Given the description of an element on the screen output the (x, y) to click on. 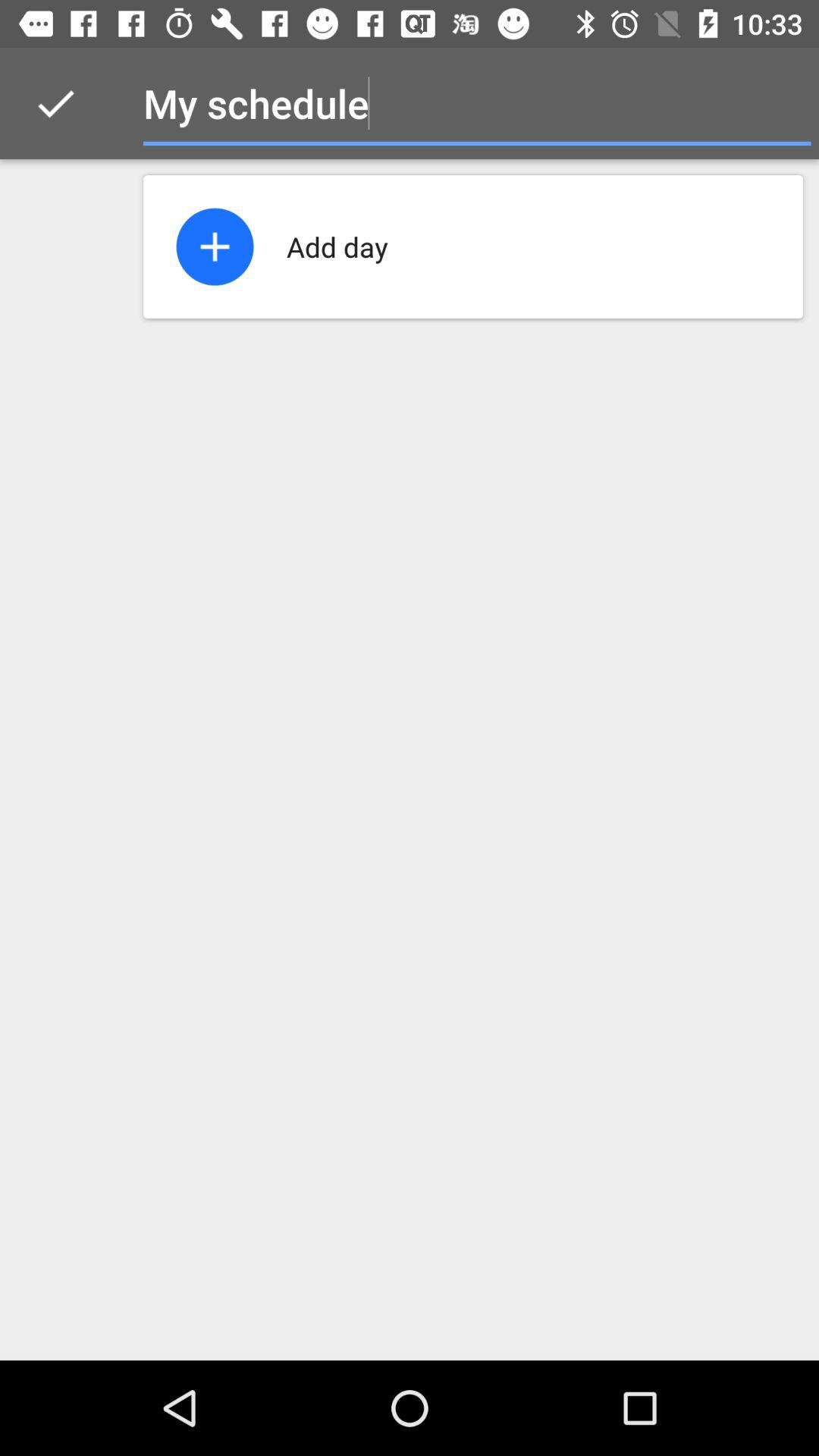
choose the item next to my schedule (55, 103)
